Given the description of an element on the screen output the (x, y) to click on. 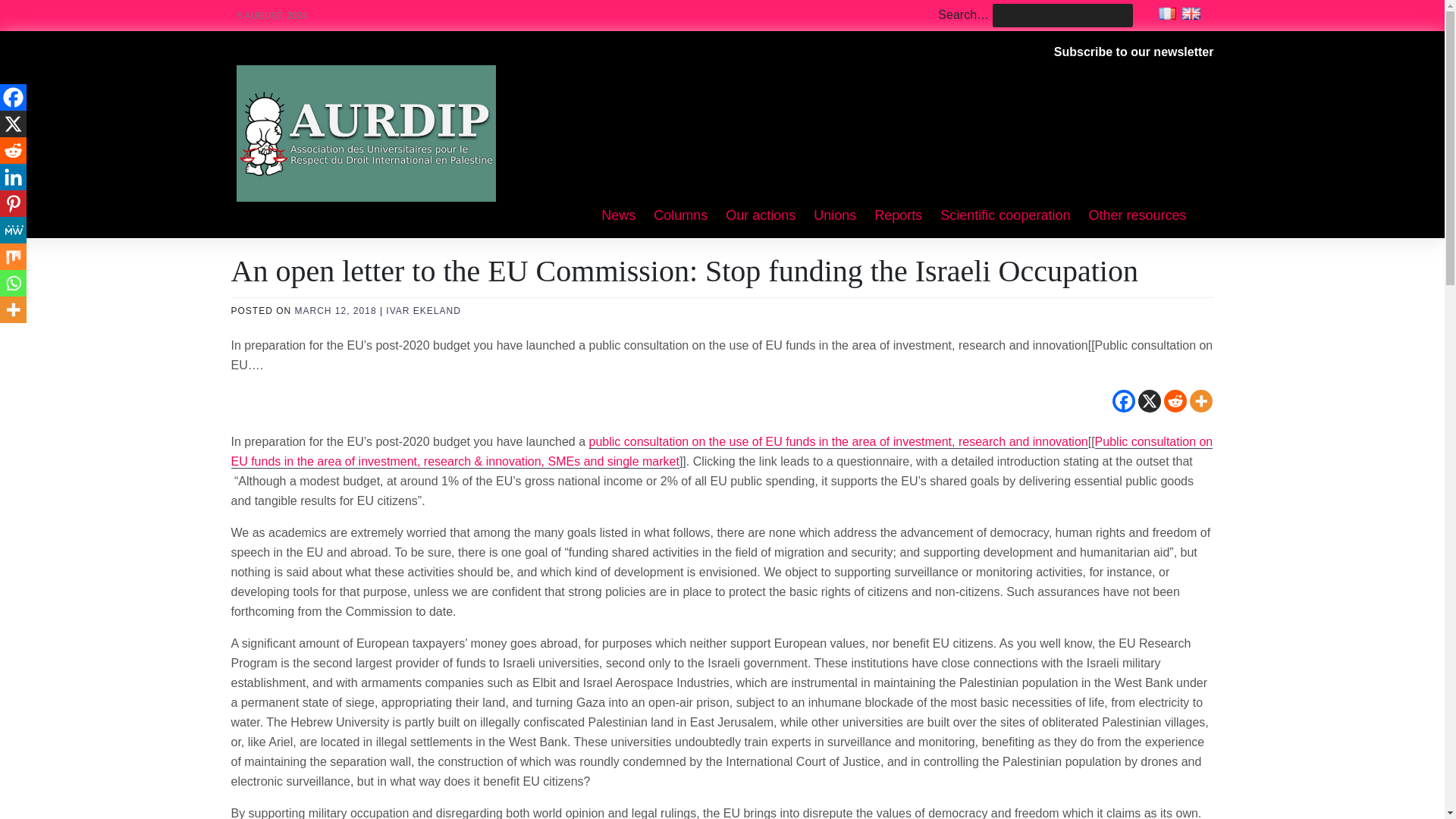
Reports (897, 215)
X (1148, 400)
Aurdip (285, 83)
News (618, 215)
Mix (13, 256)
More (13, 309)
MARCH 12, 2018 (336, 310)
Search (32, 12)
X (13, 123)
